Given the description of an element on the screen output the (x, y) to click on. 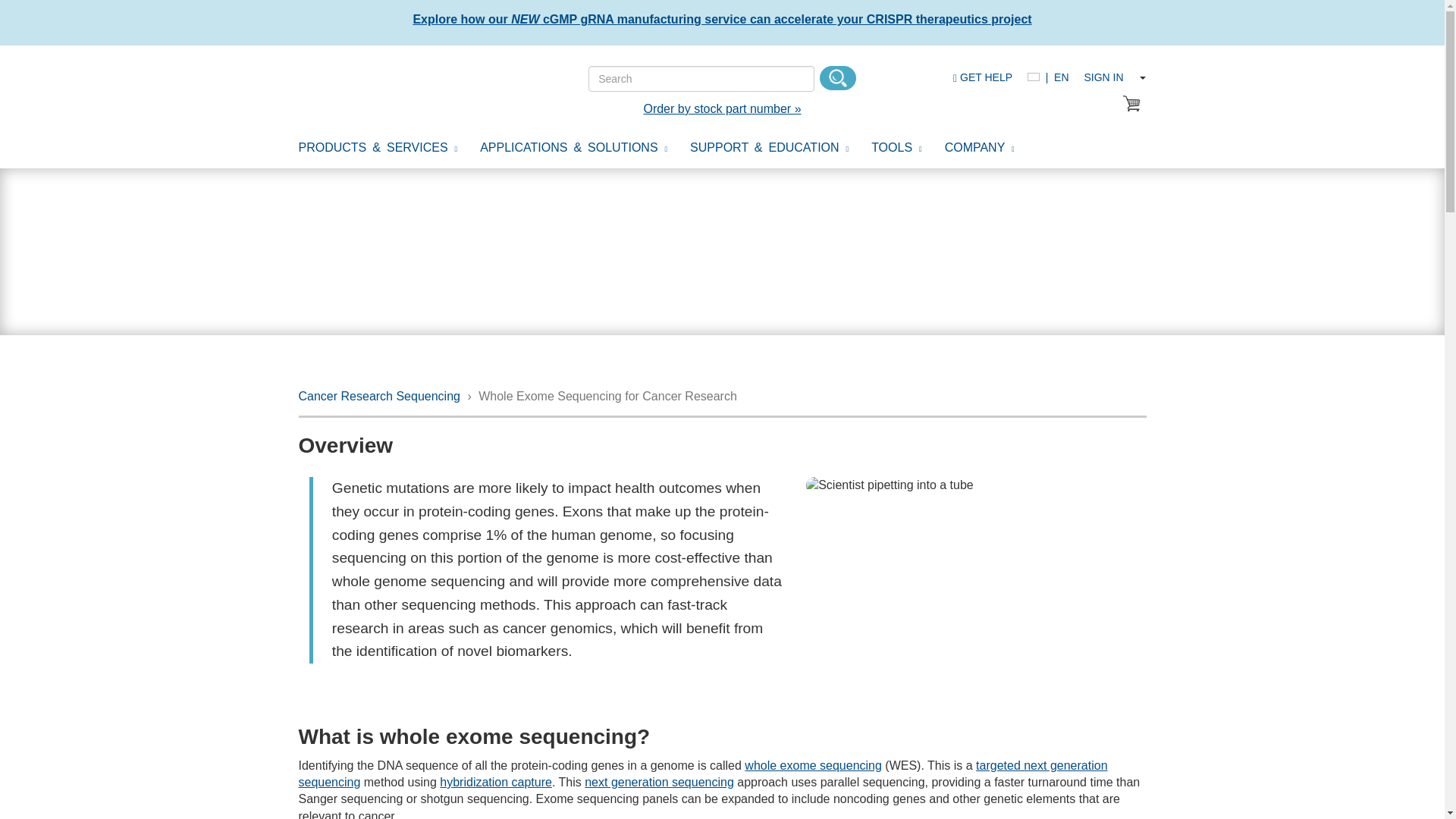
Cart Image (1131, 103)
GET HELP (982, 77)
Integrated DNA Technologies (381, 86)
SIGN IN (1102, 77)
Scientist pipetting a tube (975, 484)
Search input (700, 78)
